Given the description of an element on the screen output the (x, y) to click on. 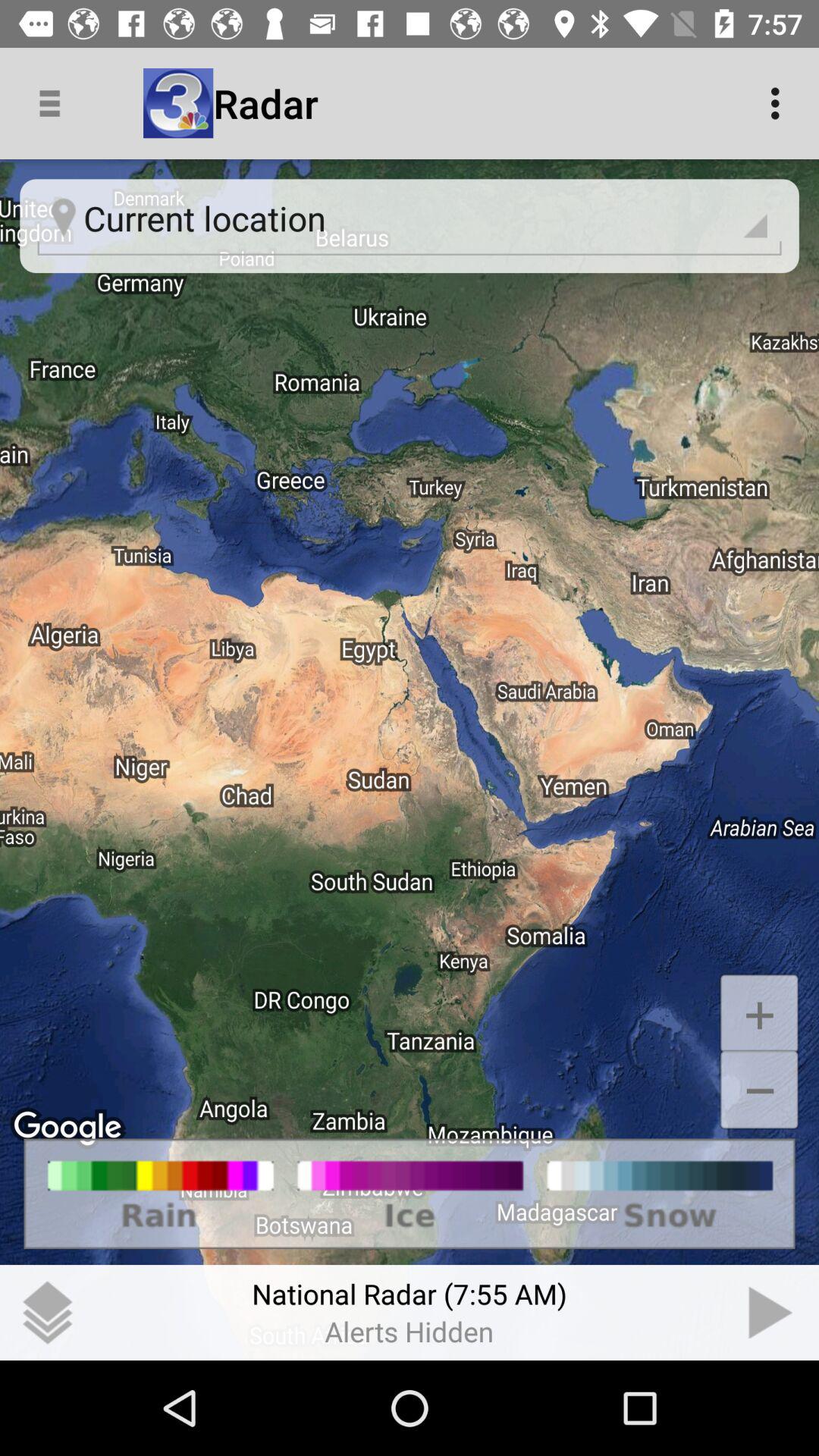
tap icon next to the  (7:55 am) item (771, 1312)
